Given the description of an element on the screen output the (x, y) to click on. 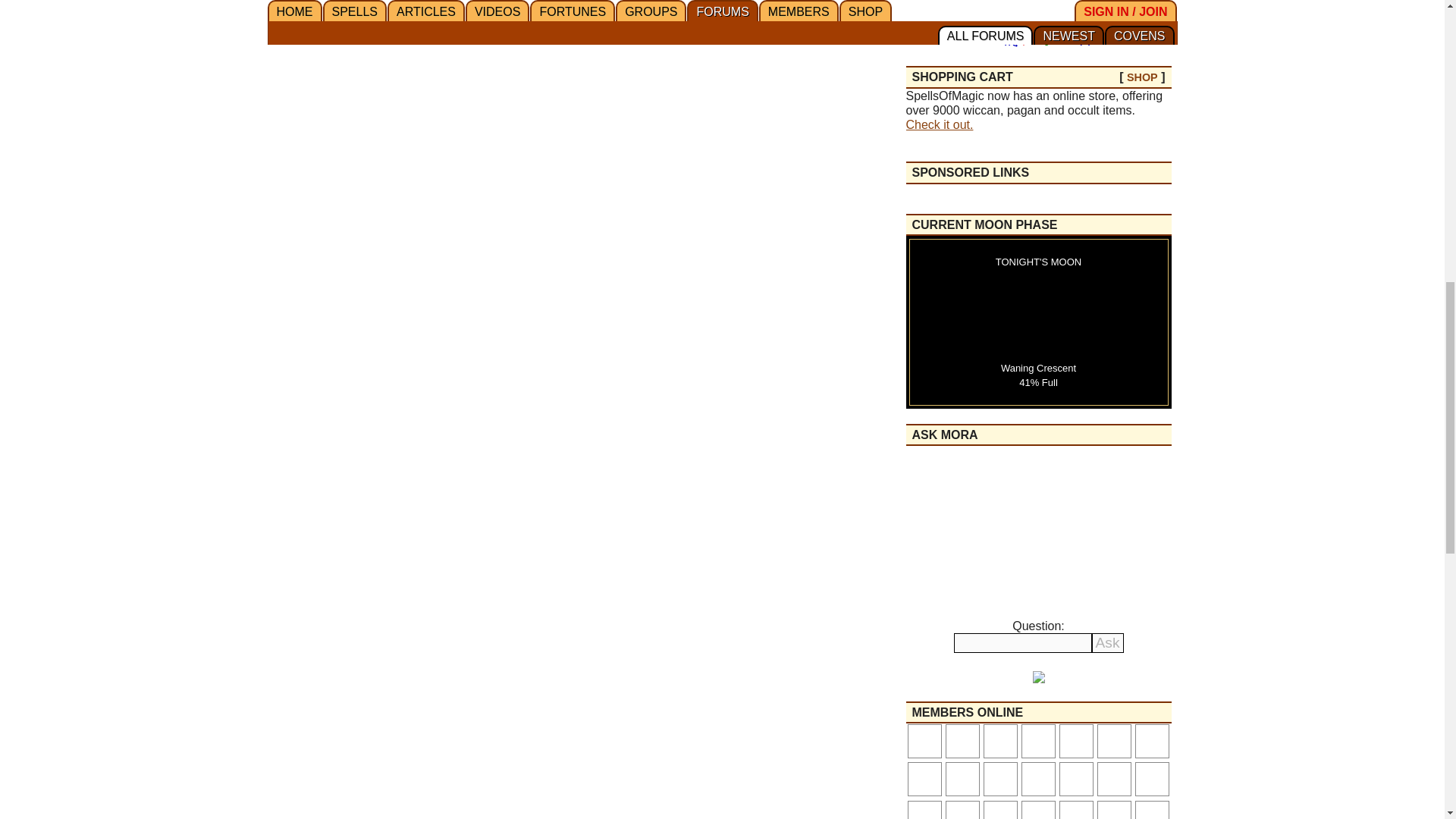
Ask (1108, 642)
